Given the description of an element on the screen output the (x, y) to click on. 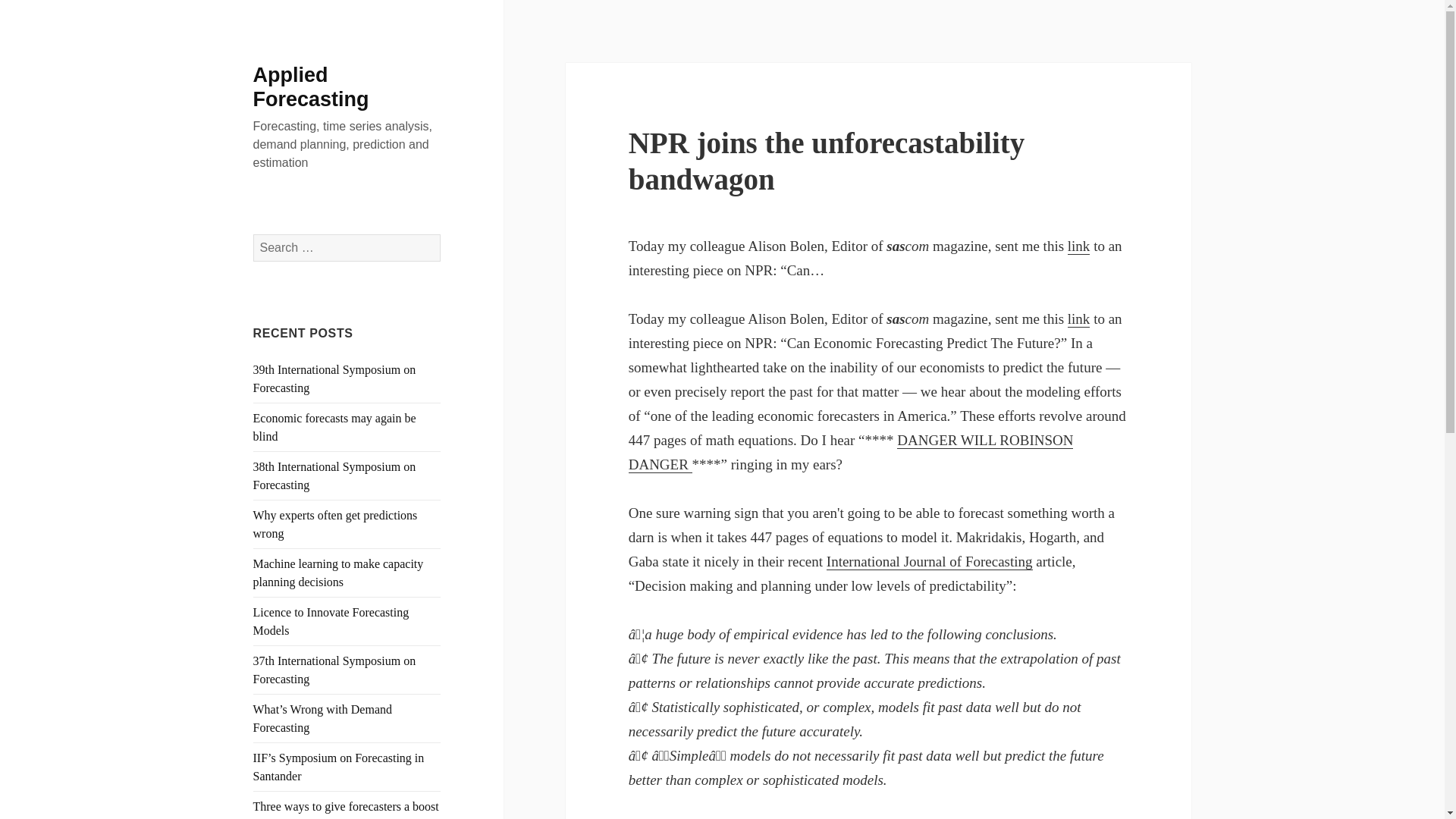
link (1078, 319)
International Journal of Forecasting (929, 561)
39th International Symposium on Forecasting (334, 378)
National Public Radio (1078, 319)
Machine learning to make capacity planning decisions (338, 572)
link (1078, 246)
Some of you older folks might remember the TV show. (851, 452)
38th International Symposium on Forecasting (334, 475)
DANGER WILL ROBINSON DANGER (851, 452)
Vol. 25, No. 4, pp. 794-812 (929, 561)
Economic forecasts may again be blind (334, 427)
Three ways to give forecasters a boost (346, 806)
